Given the description of an element on the screen output the (x, y) to click on. 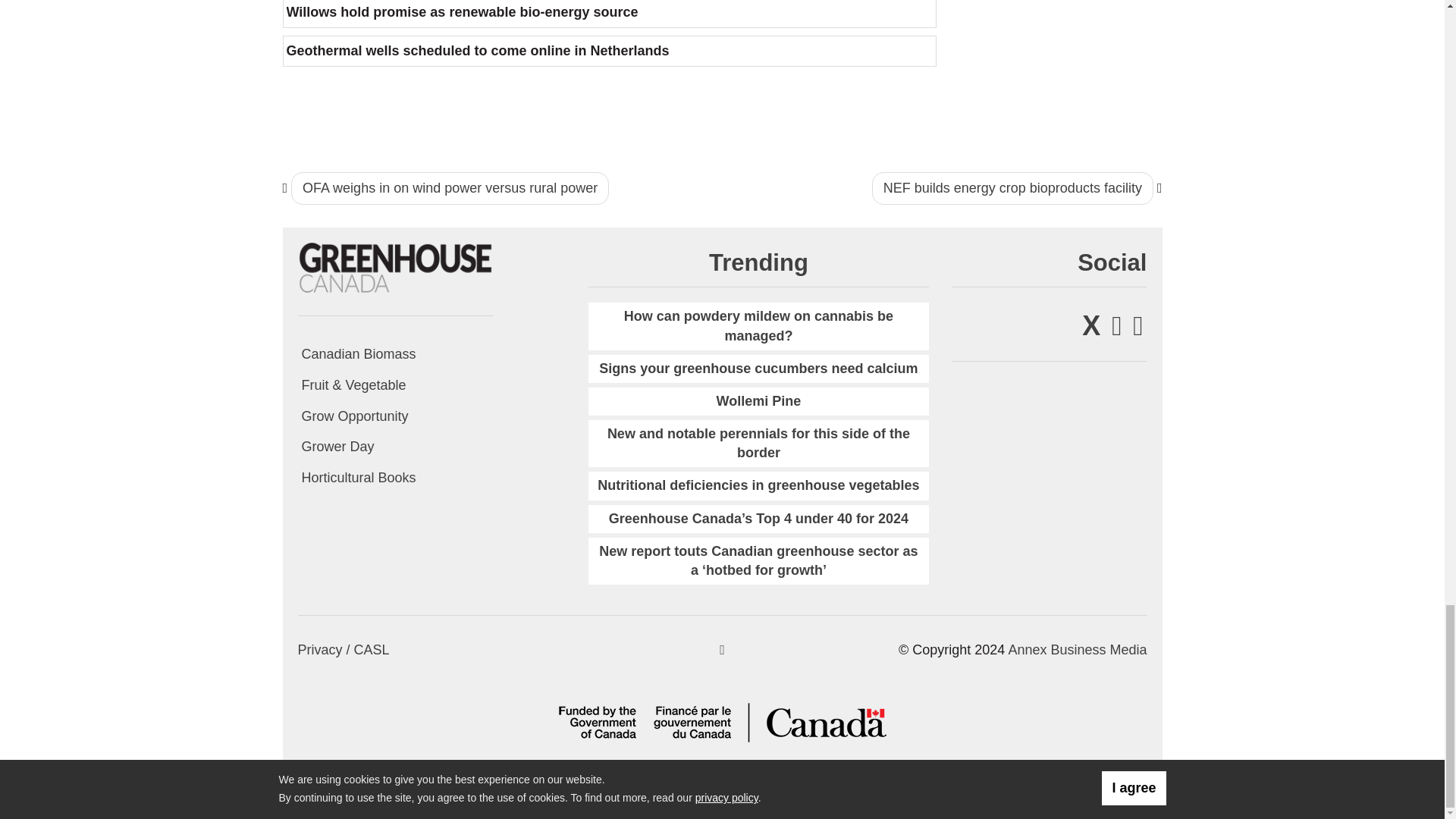
Greenhouse Canada (395, 266)
Annex Business Media (1077, 649)
